Given the description of an element on the screen output the (x, y) to click on. 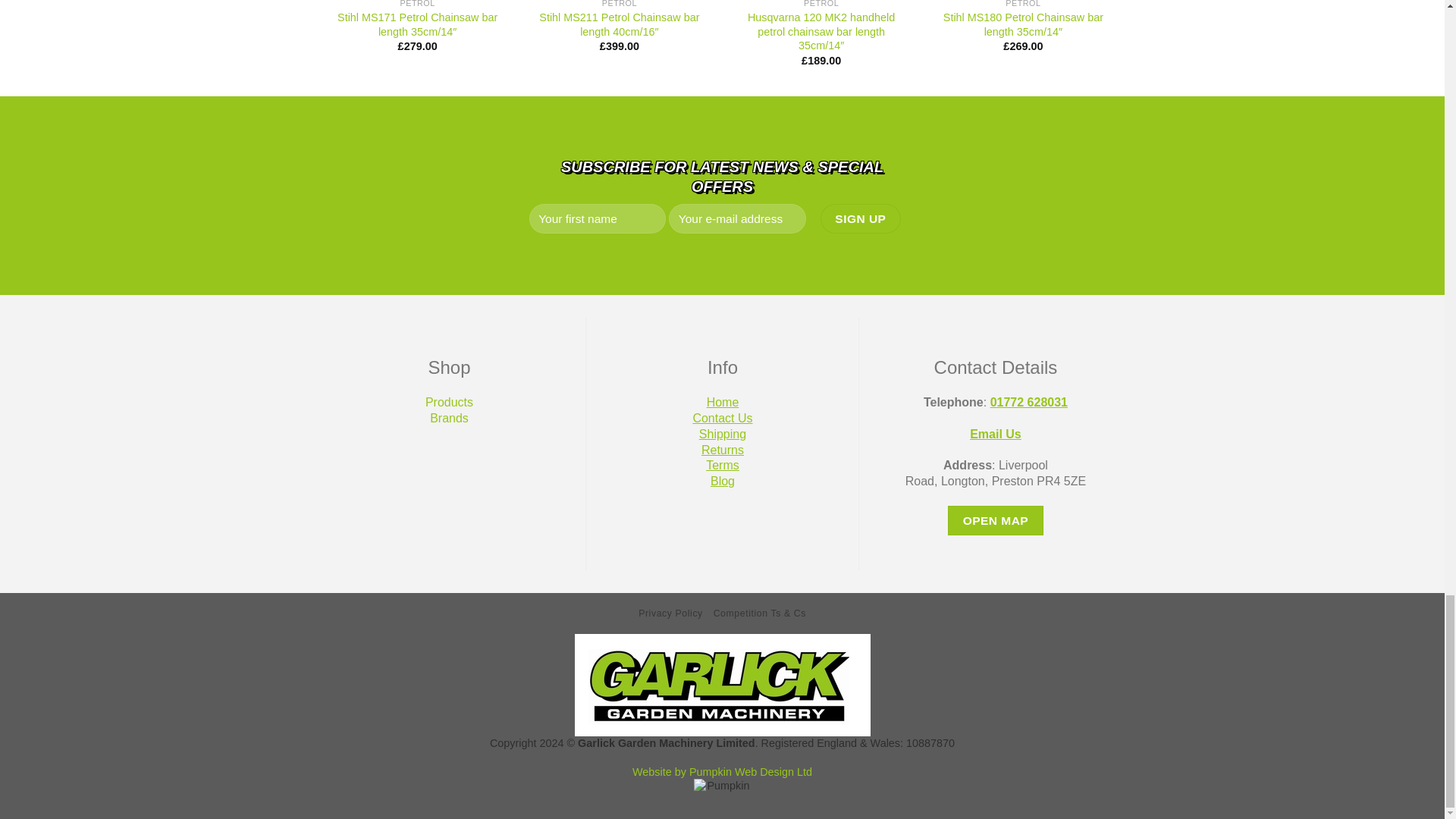
Sign up (861, 218)
